Given the description of an element on the screen output the (x, y) to click on. 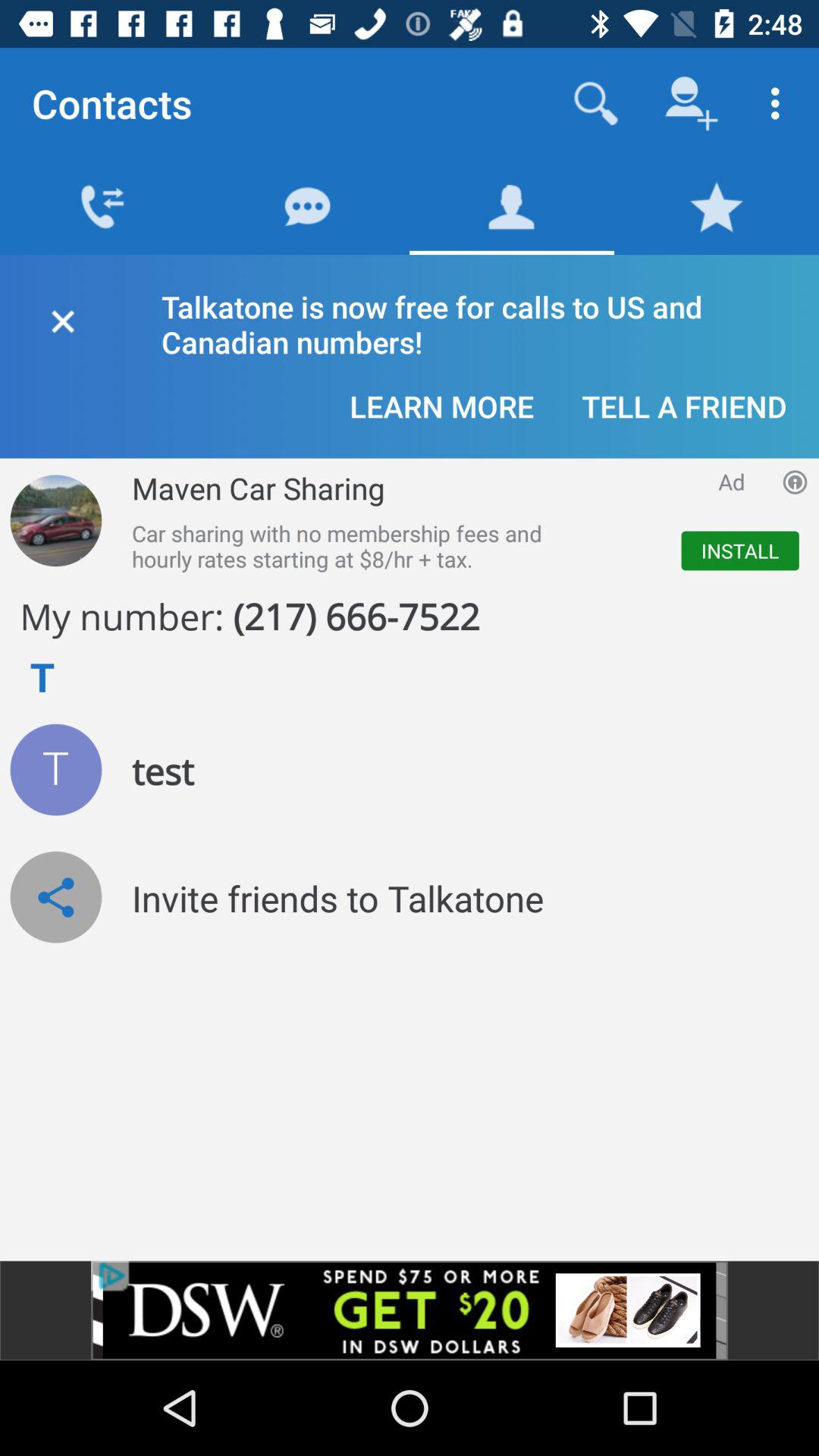
open more information for advertisement (795, 482)
